Given the description of an element on the screen output the (x, y) to click on. 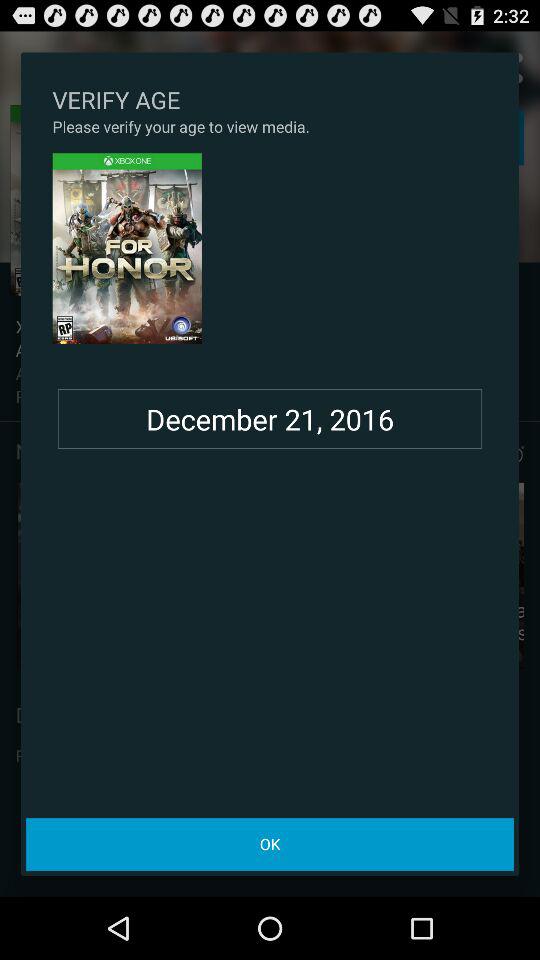
select the ok item (270, 844)
